Given the description of an element on the screen output the (x, y) to click on. 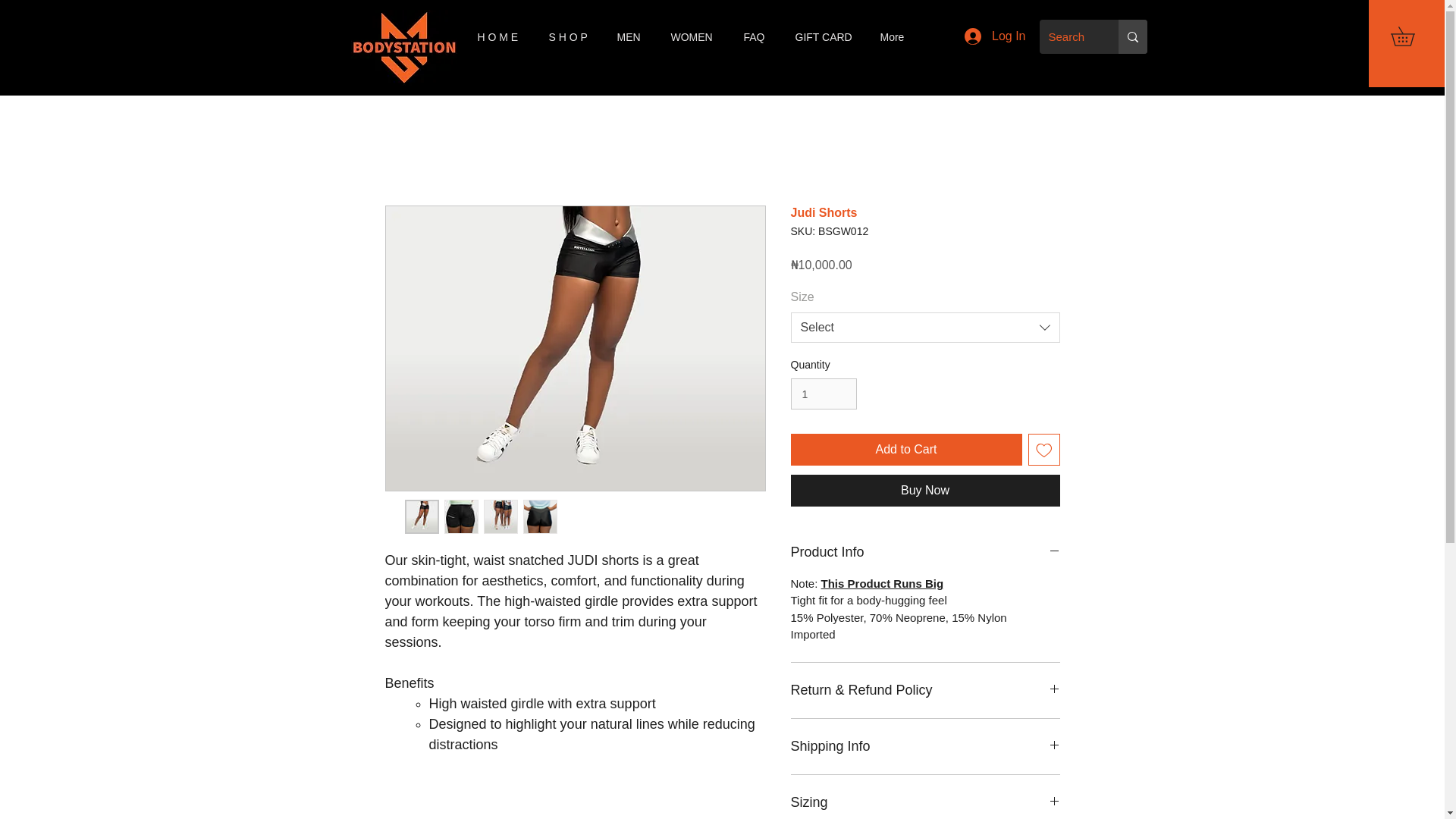
H O M E (501, 37)
Shipping Info (924, 746)
MEN (632, 37)
WOMEN (695, 37)
S H O P (571, 37)
FAQ (758, 37)
1 (823, 393)
Log In (994, 36)
Buy Now (924, 490)
Product Info (924, 551)
Add to Cart (906, 450)
Select (924, 327)
Sizing (924, 802)
GIFT CARD (826, 37)
